Given the description of an element on the screen output the (x, y) to click on. 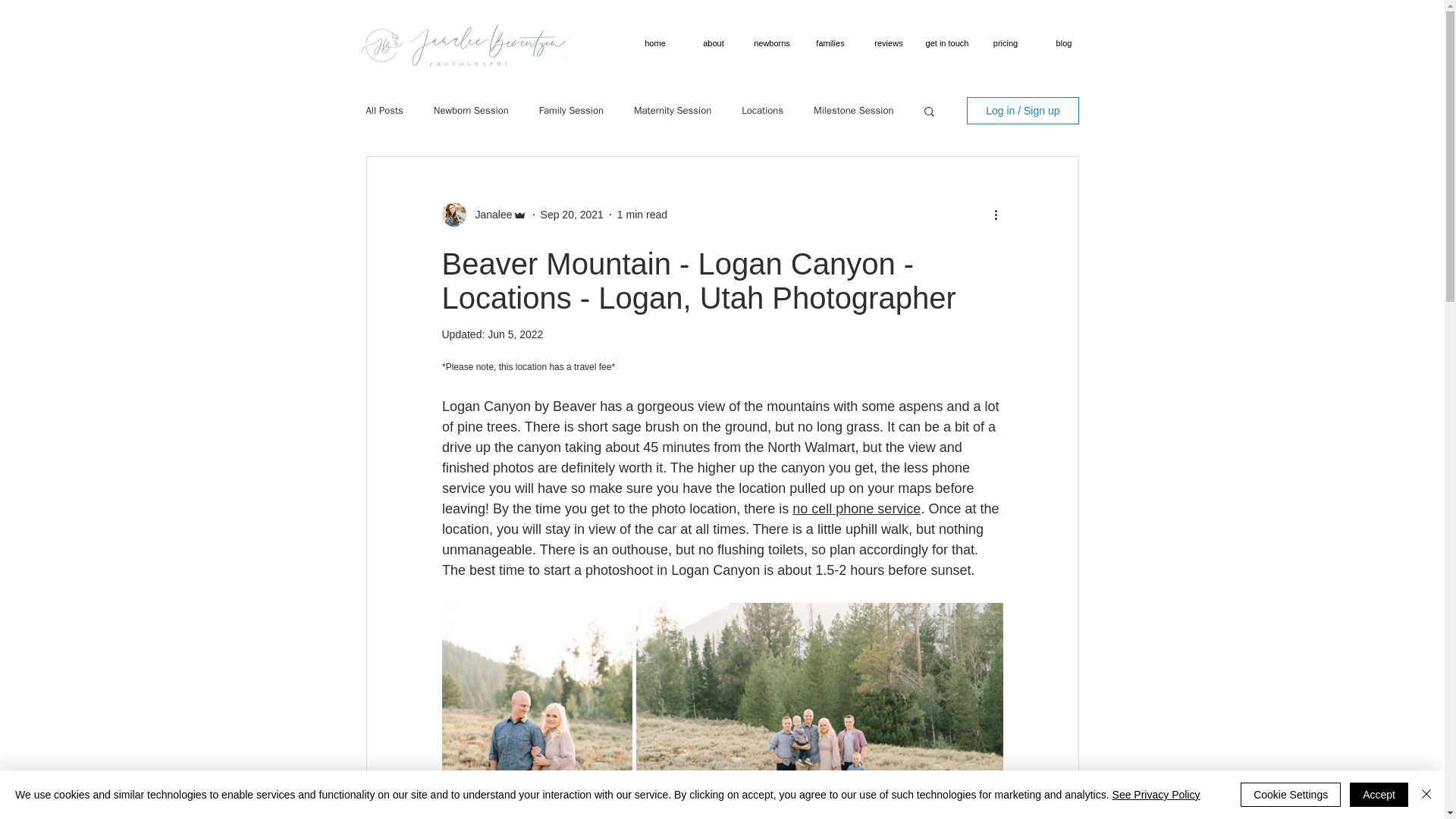
1 min read (641, 214)
families (829, 43)
Newborn Session (470, 110)
reviews (889, 43)
Janalee (488, 213)
pricing (1005, 43)
Family Session (571, 110)
get in touch (946, 43)
Milestone Session (853, 110)
about (713, 43)
All Posts (384, 110)
Locations (762, 110)
Maternity Session (672, 110)
newborns (771, 43)
home (654, 43)
